Given the description of an element on the screen output the (x, y) to click on. 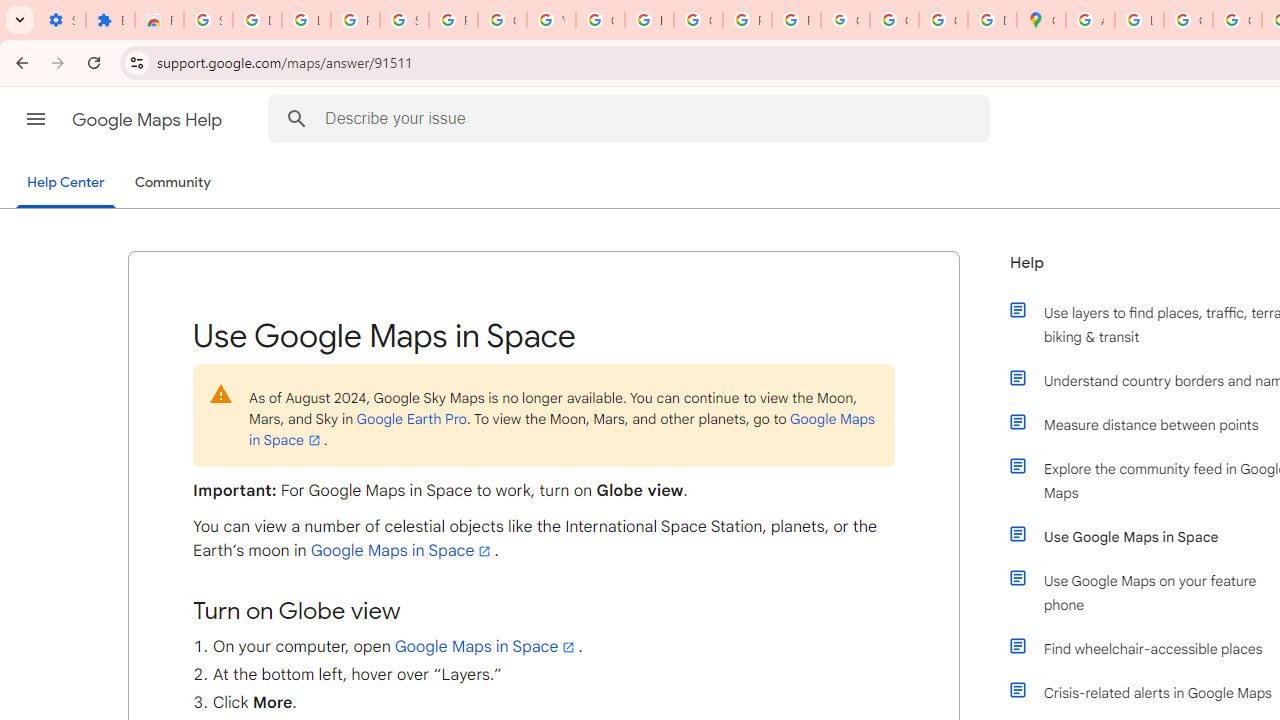
Community (171, 183)
Google Maps (1041, 20)
Google Maps in Space (486, 646)
Main menu (35, 119)
Help Center (65, 183)
